Given the description of an element on the screen output the (x, y) to click on. 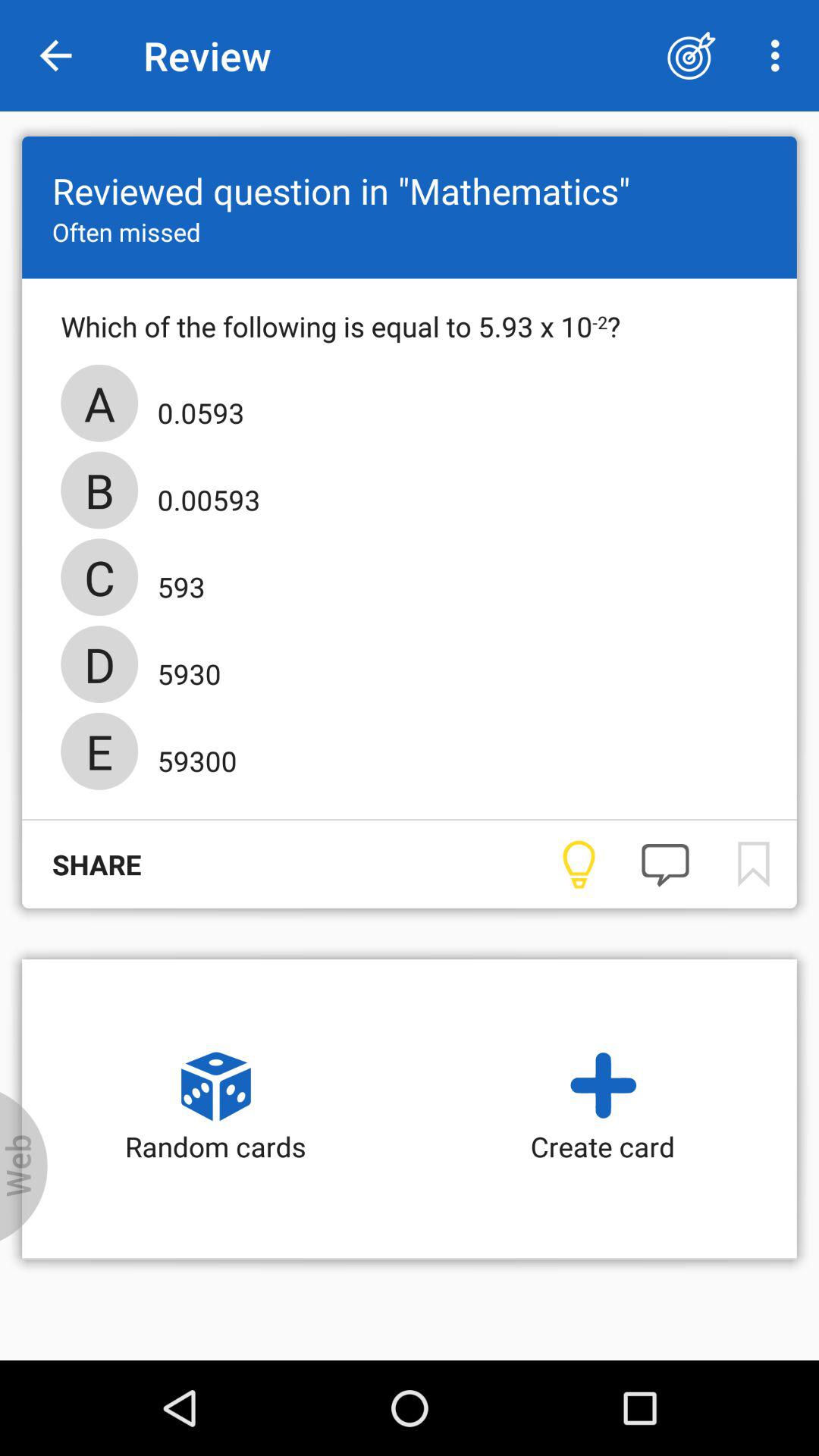
comment (665, 864)
